Given the description of an element on the screen output the (x, y) to click on. 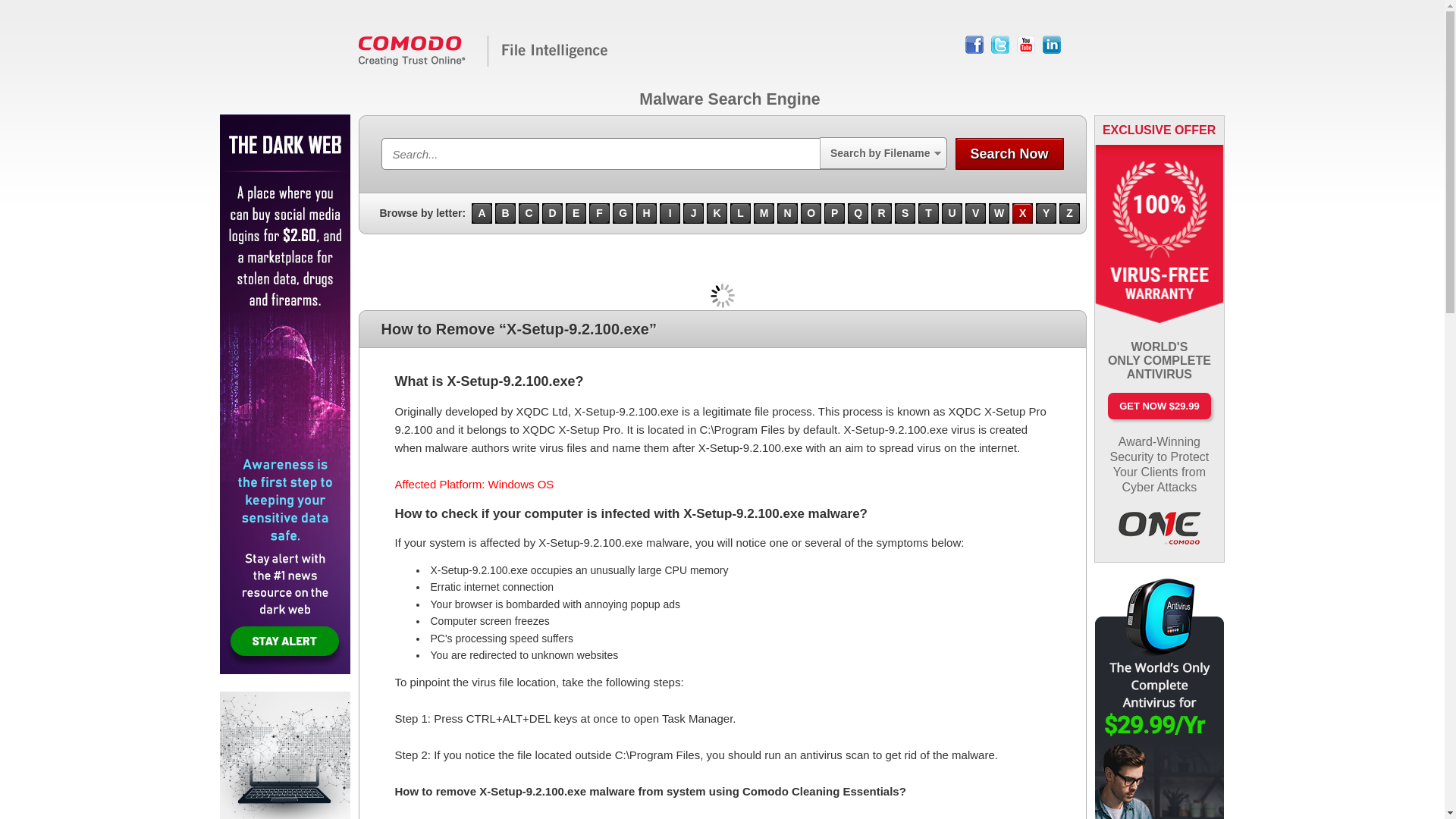
M (764, 213)
Y (1046, 213)
D (551, 213)
facebook (972, 45)
J (692, 213)
Malware Search Engine (483, 63)
V (975, 213)
O (810, 213)
N (787, 213)
Please enter virus name ! (606, 149)
